Given the description of an element on the screen output the (x, y) to click on. 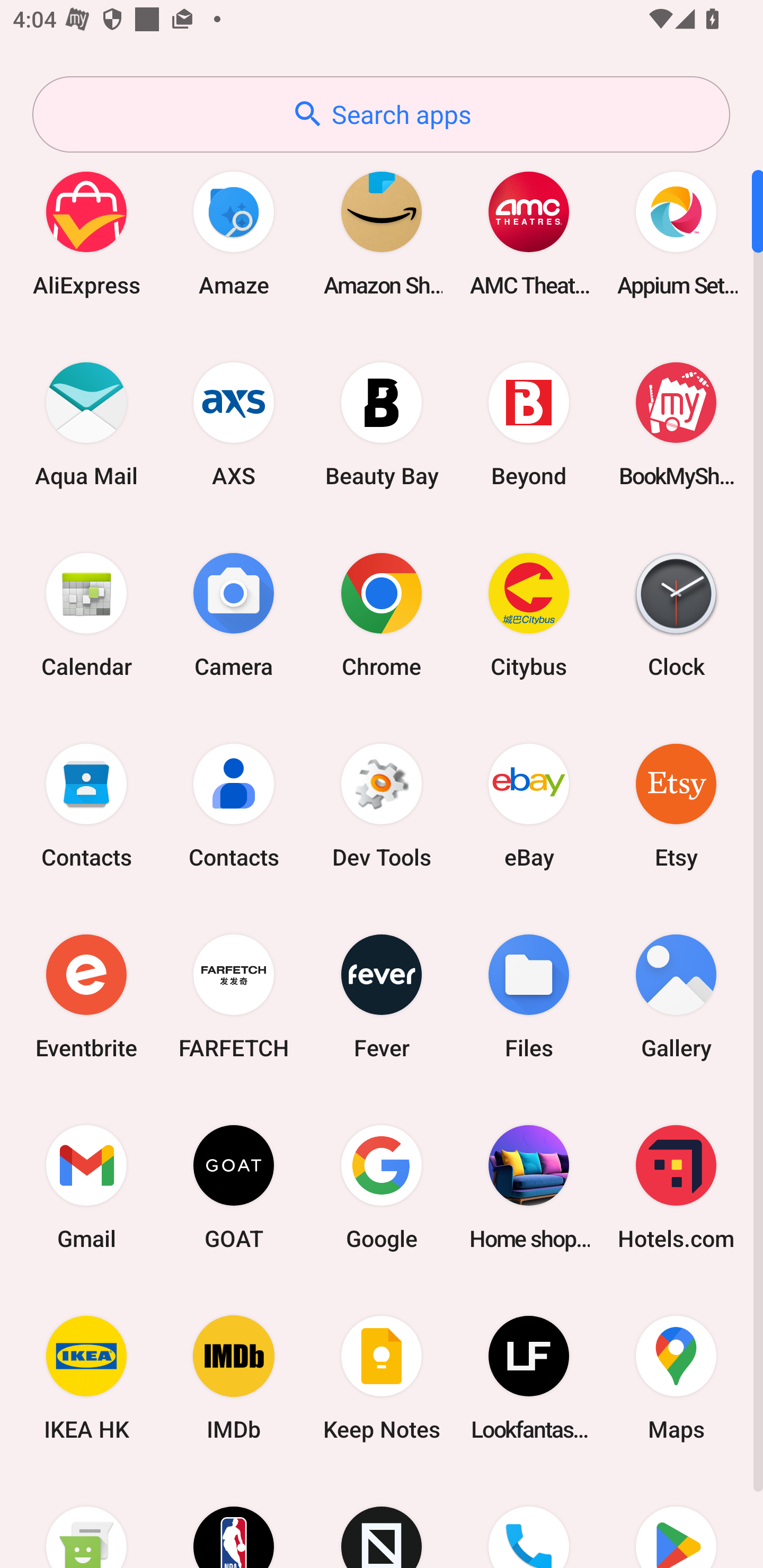
  Search apps (381, 114)
AliExpress (86, 233)
Amaze (233, 233)
Amazon Shopping (381, 233)
AMC Theatres (528, 233)
Appium Settings (676, 233)
Aqua Mail (86, 424)
AXS (233, 424)
Beauty Bay (381, 424)
Beyond (528, 424)
BookMyShow (676, 424)
Calendar (86, 614)
Camera (233, 614)
Chrome (381, 614)
Citybus (528, 614)
Clock (676, 614)
Contacts (86, 805)
Contacts (233, 805)
Dev Tools (381, 805)
eBay (528, 805)
Etsy (676, 805)
Eventbrite (86, 996)
FARFETCH (233, 996)
Fever (381, 996)
Files (528, 996)
Gallery (676, 996)
Gmail (86, 1186)
GOAT (233, 1186)
Google (381, 1186)
Home shopping (528, 1186)
Hotels.com (676, 1186)
IKEA HK (86, 1377)
IMDb (233, 1377)
Keep Notes (381, 1377)
Lookfantastic (528, 1377)
Maps (676, 1377)
